Given the description of an element on the screen output the (x, y) to click on. 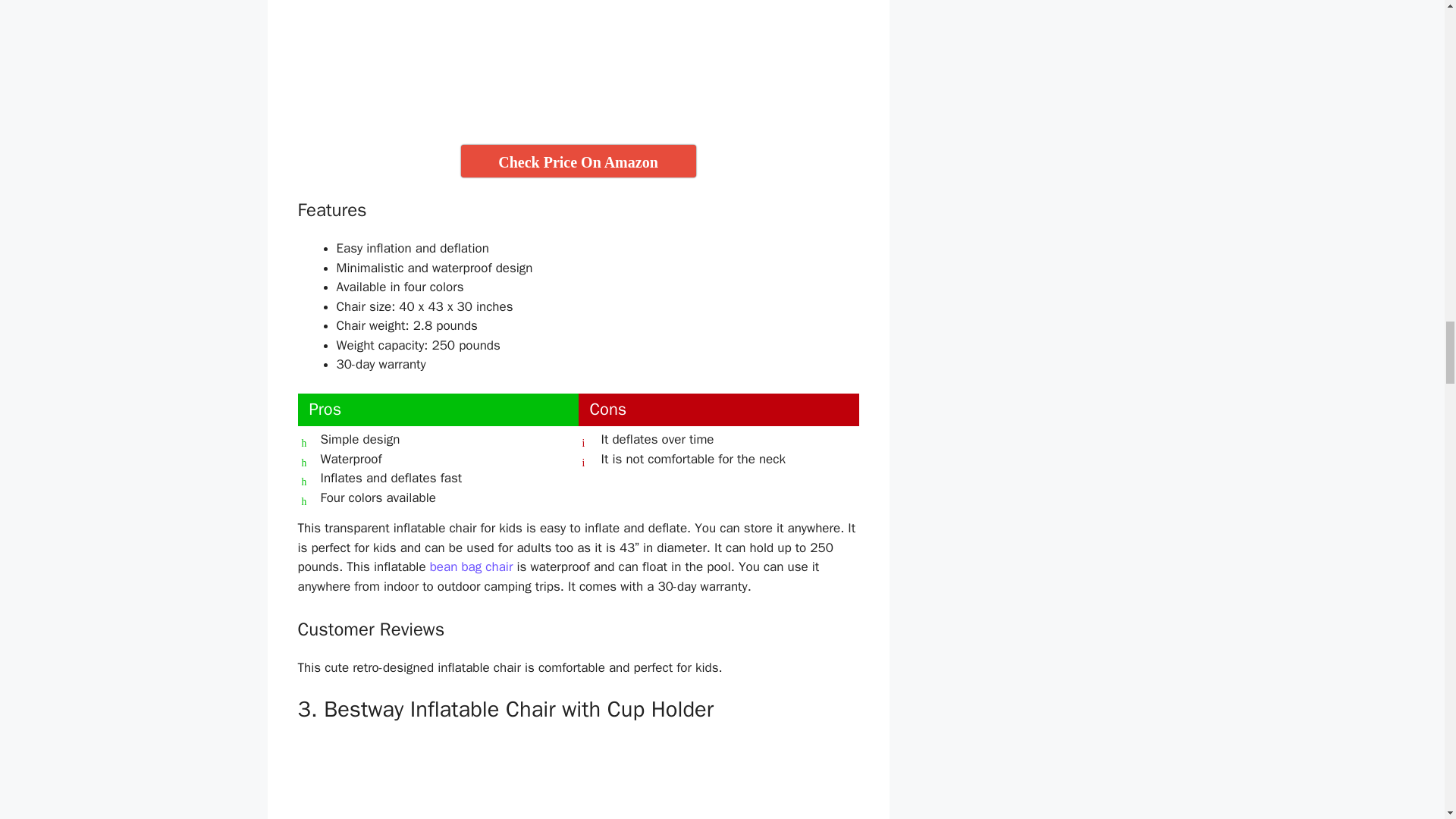
bean bag chair (471, 566)
Check Price On Amazon (578, 160)
